Given the description of an element on the screen output the (x, y) to click on. 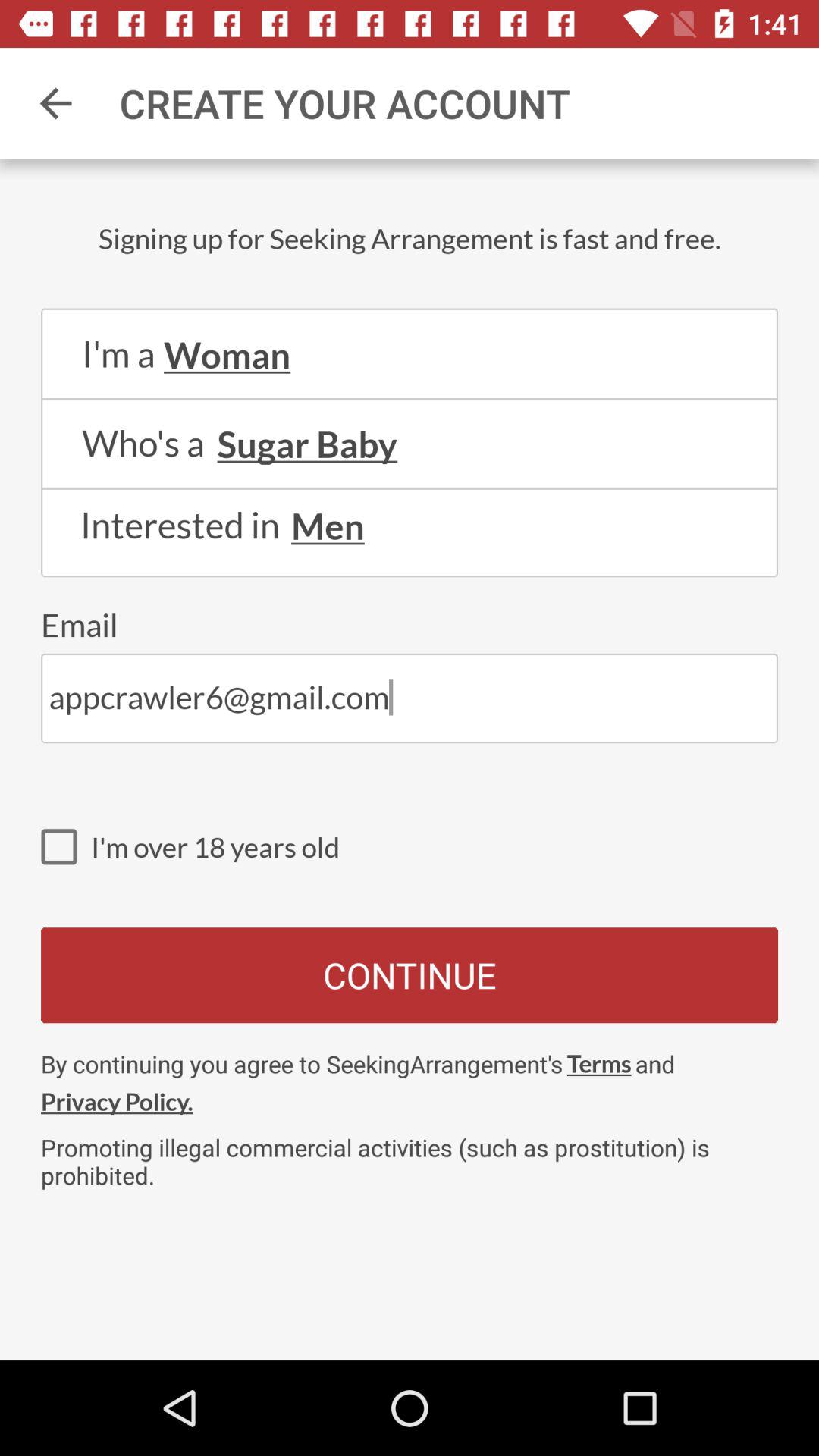
open the icon above the continue (65, 846)
